Given the description of an element on the screen output the (x, y) to click on. 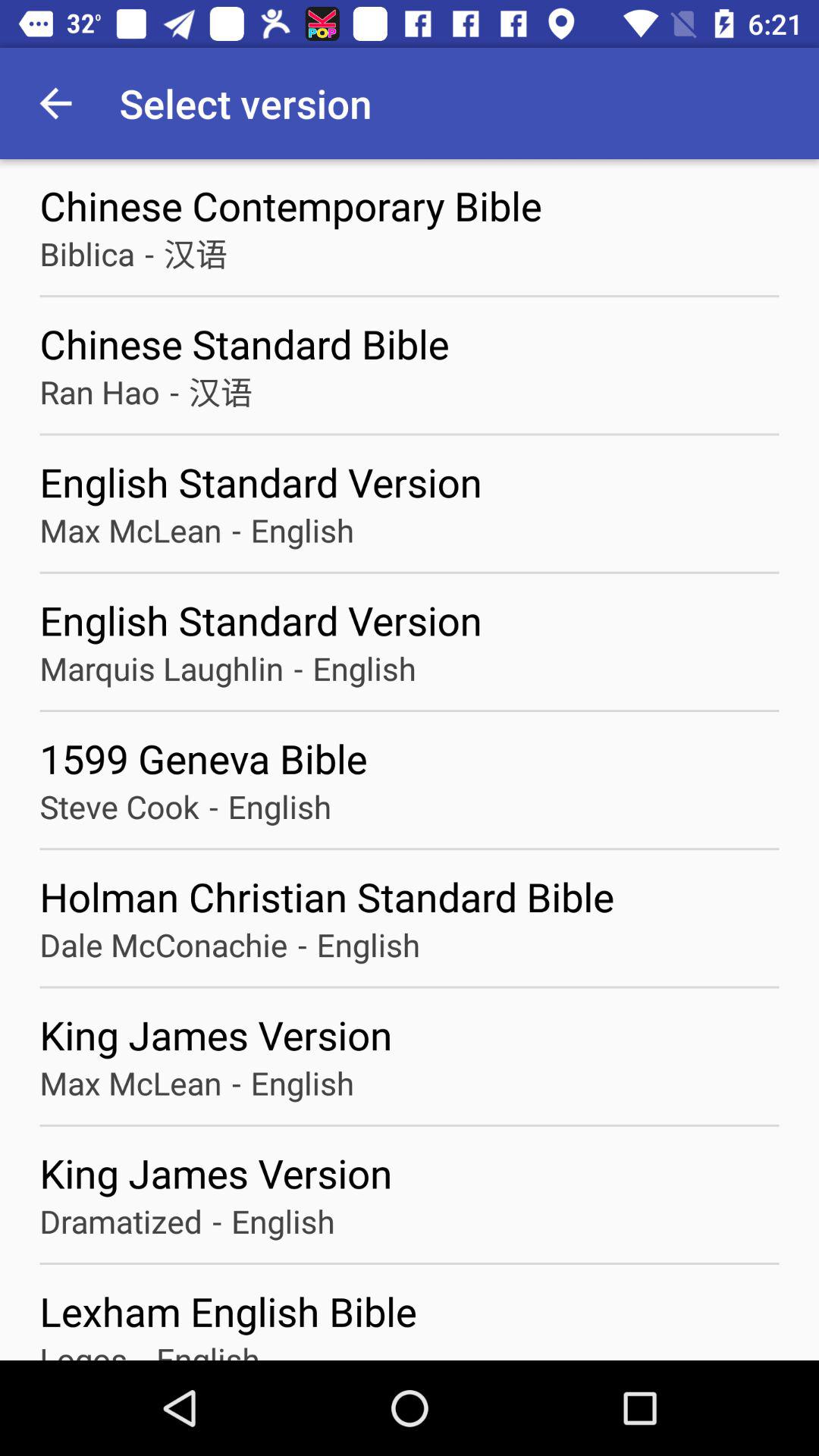
turn on icon above english standard version (220, 391)
